Given the description of an element on the screen output the (x, y) to click on. 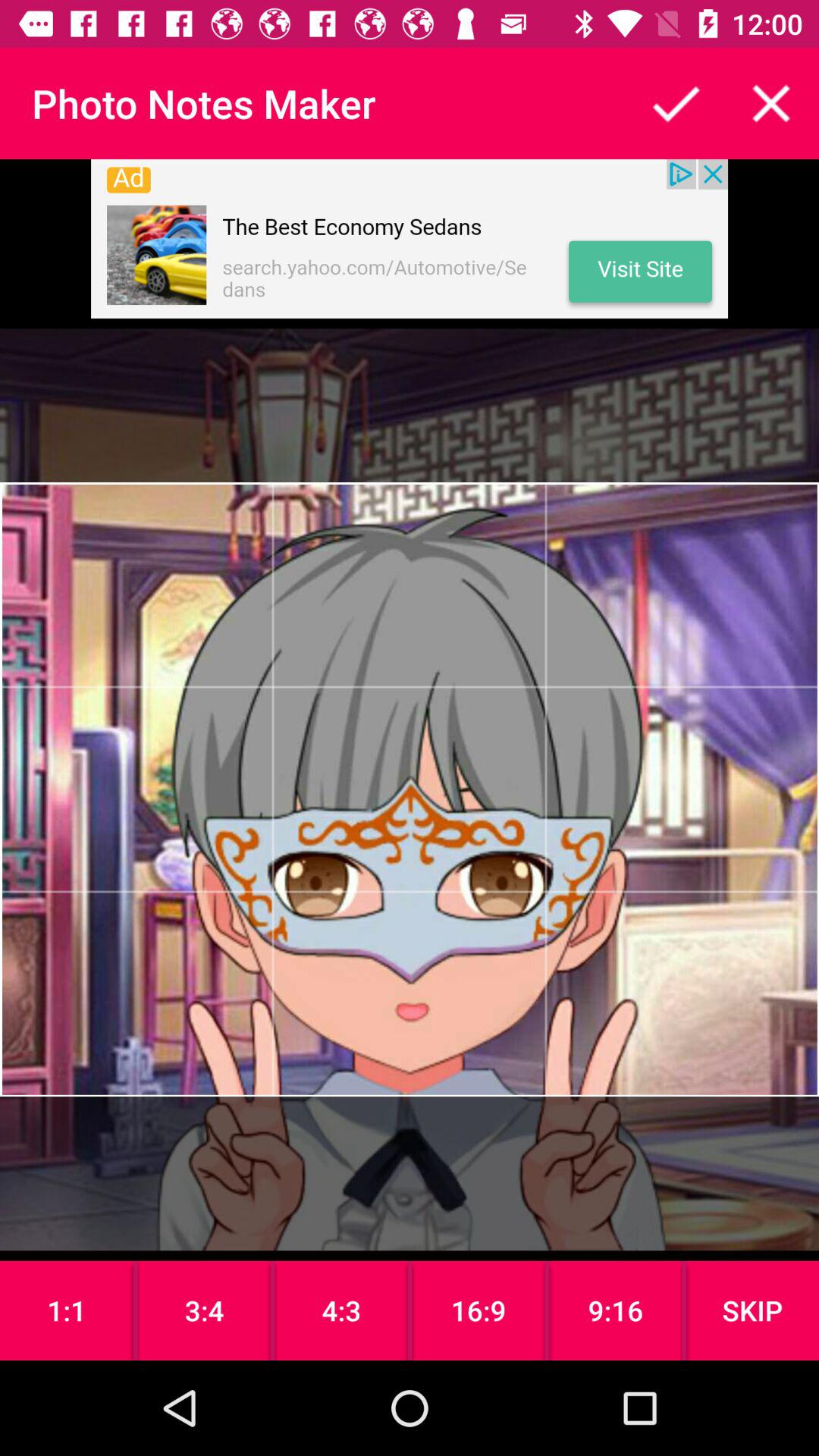
done simpal (675, 103)
